Given the description of an element on the screen output the (x, y) to click on. 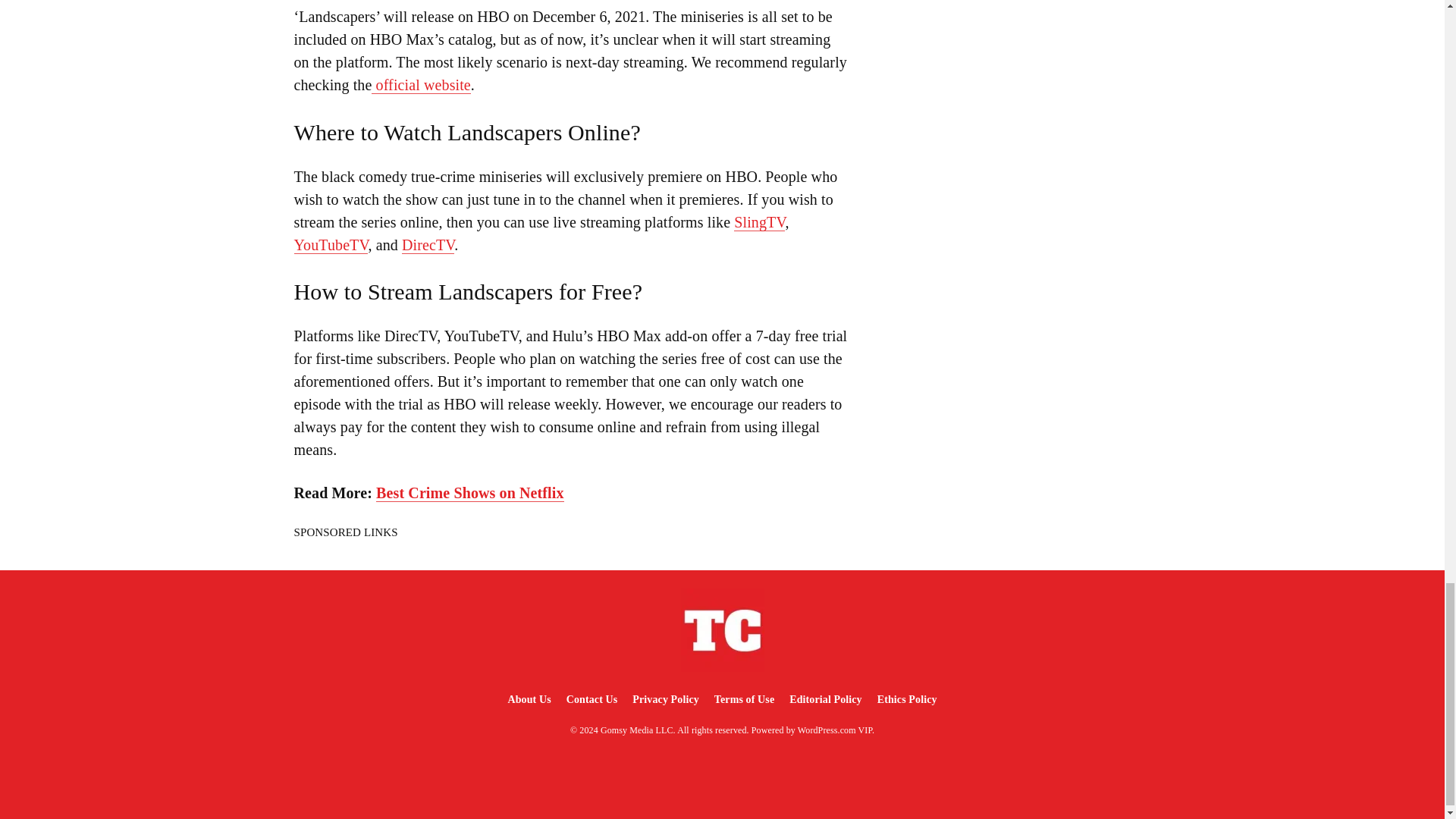
Ethics Policy (906, 699)
About Us (528, 699)
DirecTV (427, 244)
SlingTV (758, 221)
WordPress.com VIP (834, 729)
official website (420, 85)
YouTubeTV (331, 244)
Editorial Policy (825, 699)
Privacy Policy (665, 699)
Terms of Use (743, 699)
